Given the description of an element on the screen output the (x, y) to click on. 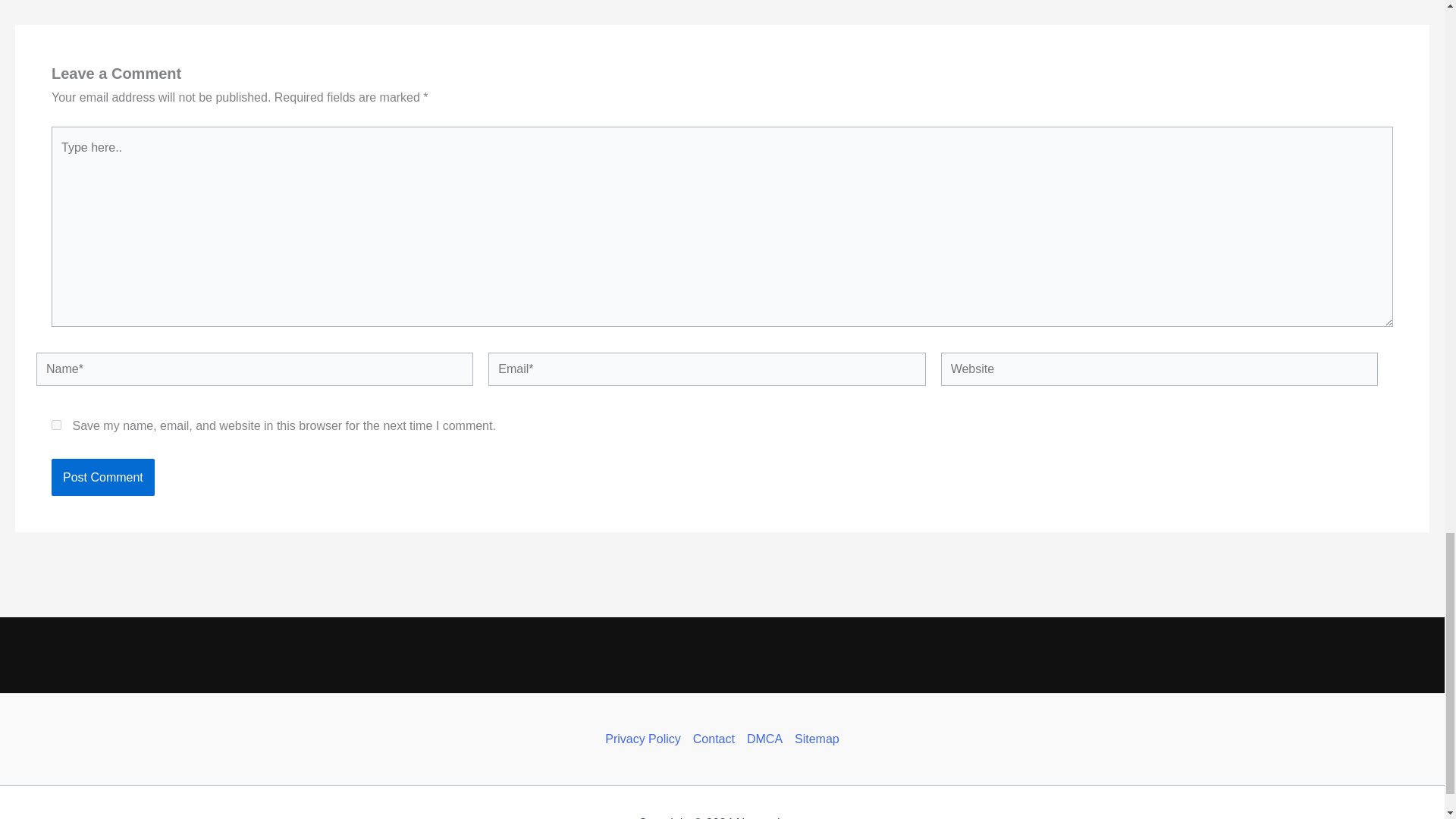
Sitemap (814, 739)
yes (55, 424)
Contact (714, 739)
Post Comment (102, 477)
Privacy Policy (646, 739)
DMCA (765, 739)
Post Comment (102, 477)
